Given the description of an element on the screen output the (x, y) to click on. 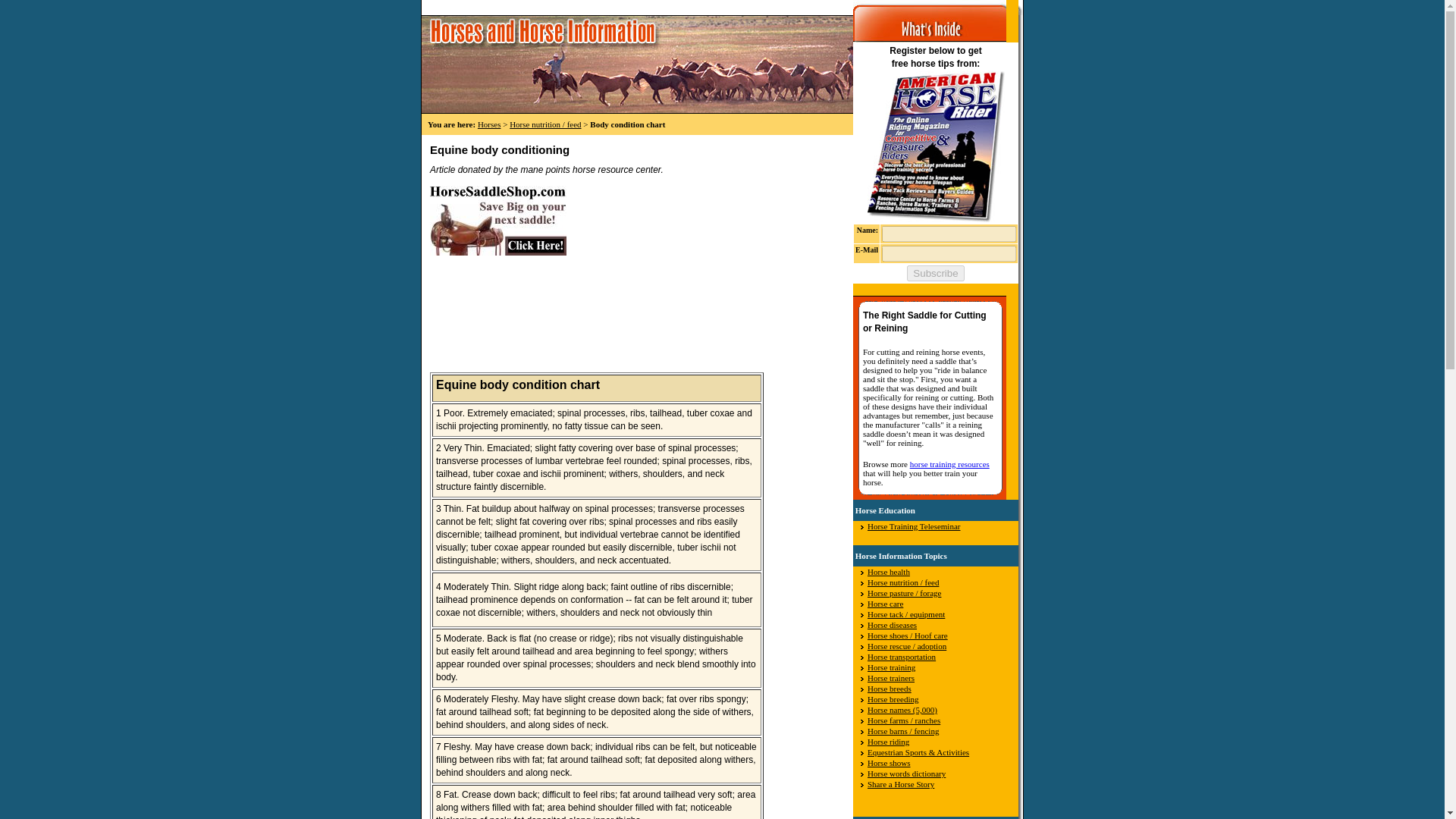
Horse transportation (901, 655)
Share a Horse Story (900, 783)
Horse training (891, 666)
Horse shows (889, 762)
Advertisement (543, 274)
Subscribe (935, 273)
Horse diseases (892, 624)
Horse trainers (890, 677)
horse training resources (950, 463)
Horse care (884, 603)
Horses (488, 123)
Horse Training Teleseminar (913, 525)
Horse breeds (889, 687)
Horse words dictionary (905, 773)
Horse health (888, 571)
